Given the description of an element on the screen output the (x, y) to click on. 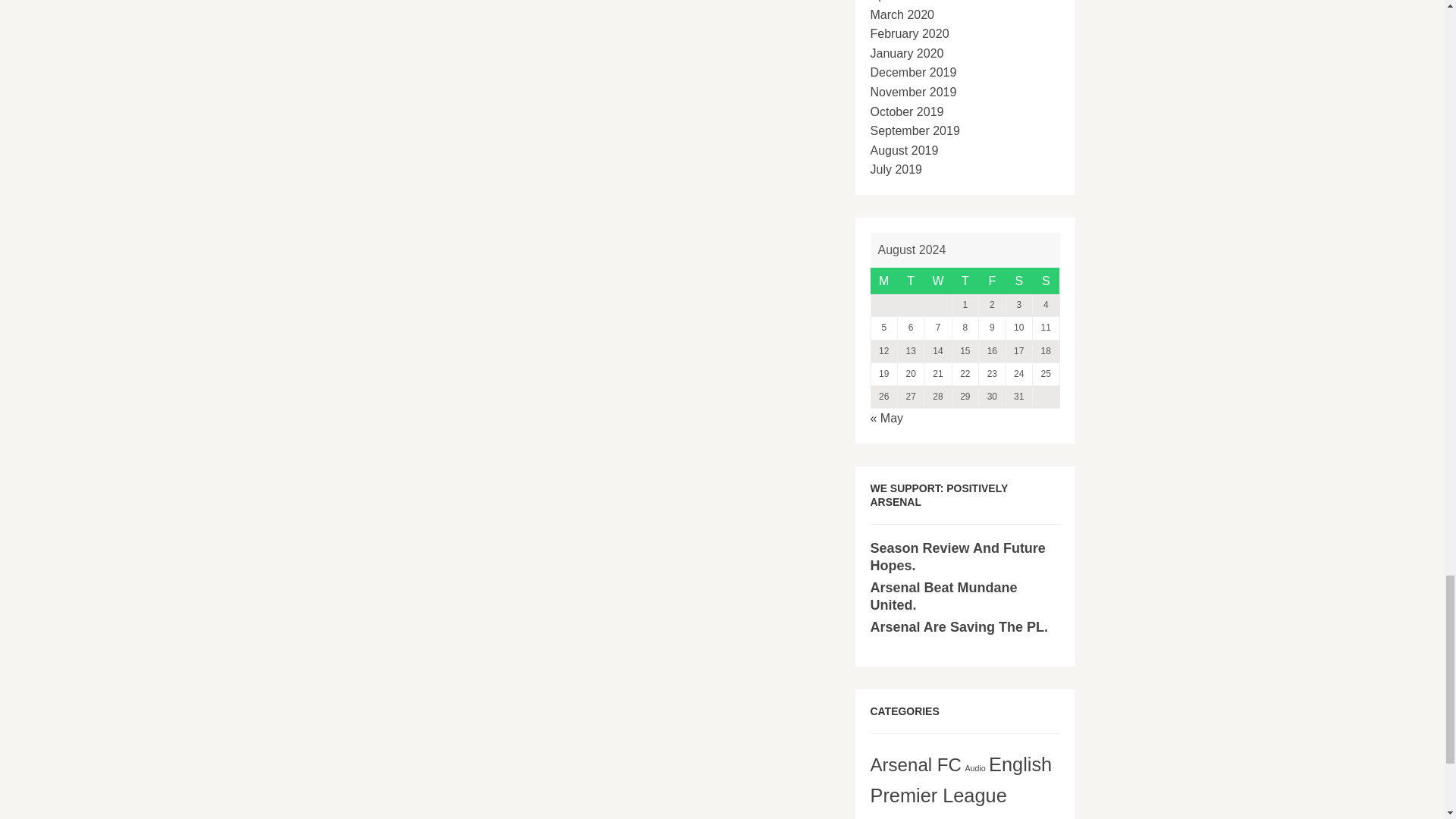
Tuesday (909, 280)
Friday (992, 280)
Monday (883, 280)
Thursday (965, 280)
Saturday (1019, 280)
Wednesday (938, 280)
Sunday (1045, 280)
